Given the description of an element on the screen output the (x, y) to click on. 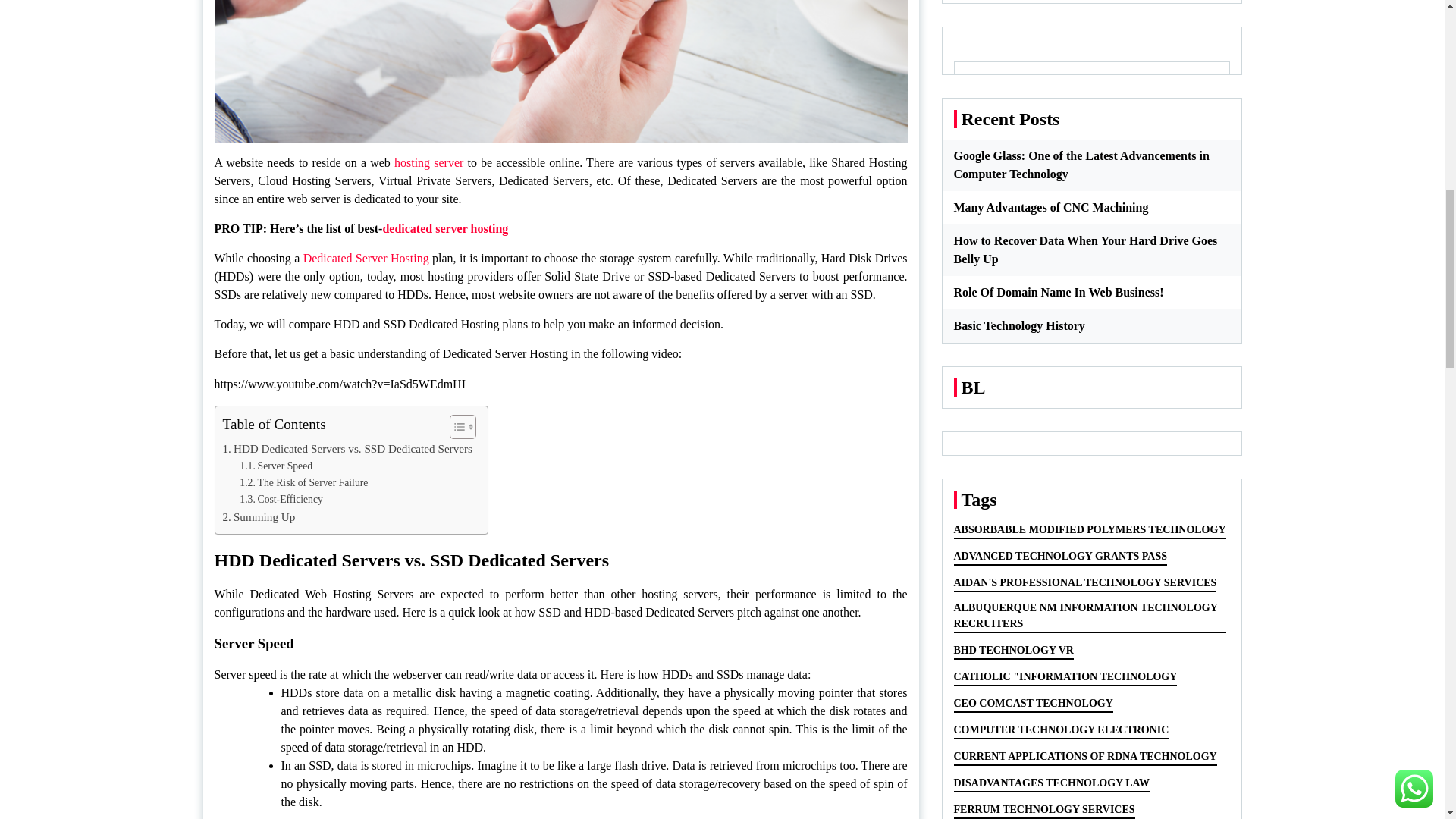
The Risk of Server Failure (304, 483)
Summing Up (258, 516)
HDD Dedicated Servers vs. SSD Dedicated Servers (346, 448)
Server Speed (276, 466)
Cost-Efficiency (281, 499)
